Given the description of an element on the screen output the (x, y) to click on. 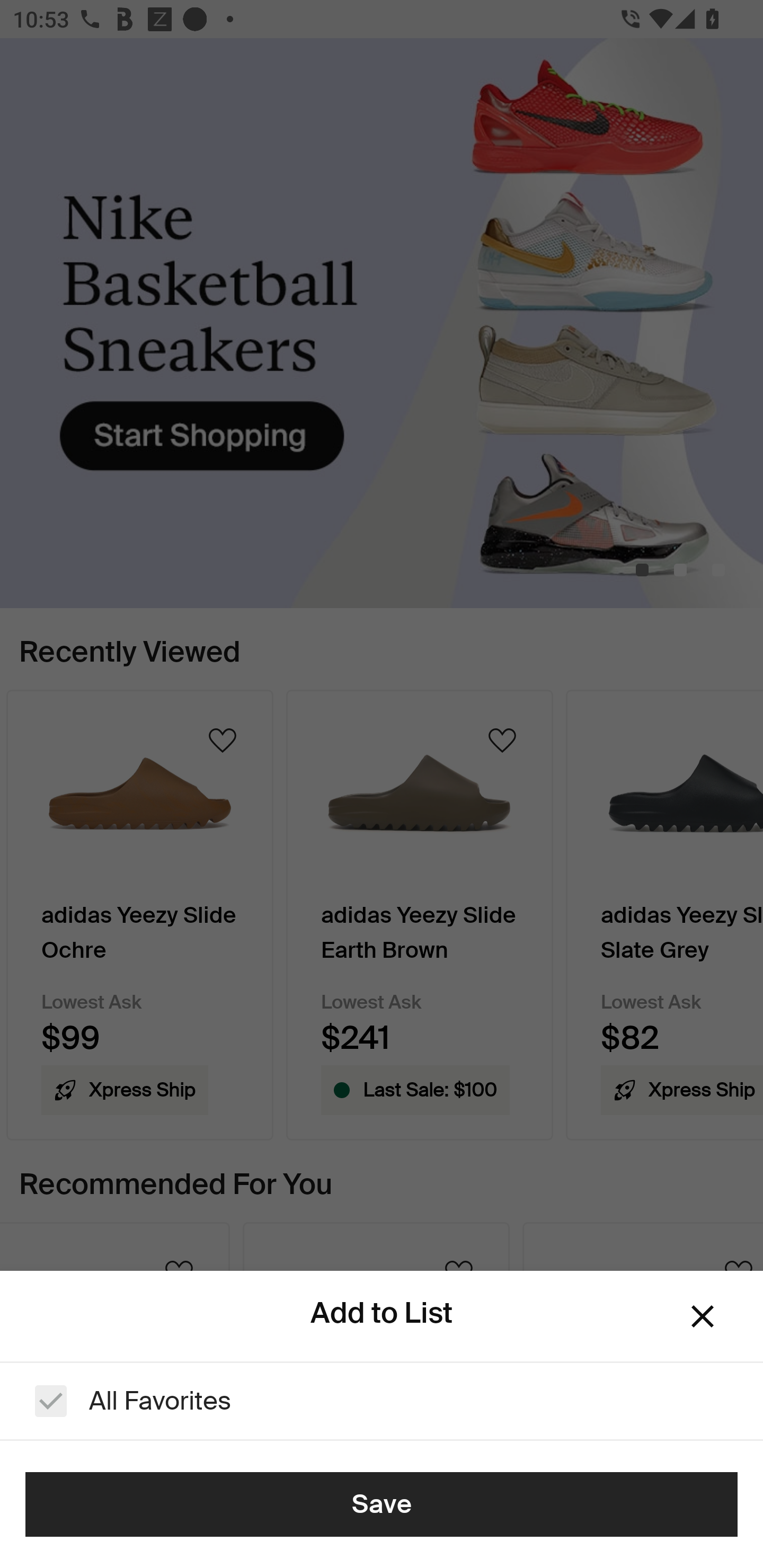
Dismiss (702, 1315)
All Favorites (381, 1400)
Save (381, 1504)
